Given the description of an element on the screen output the (x, y) to click on. 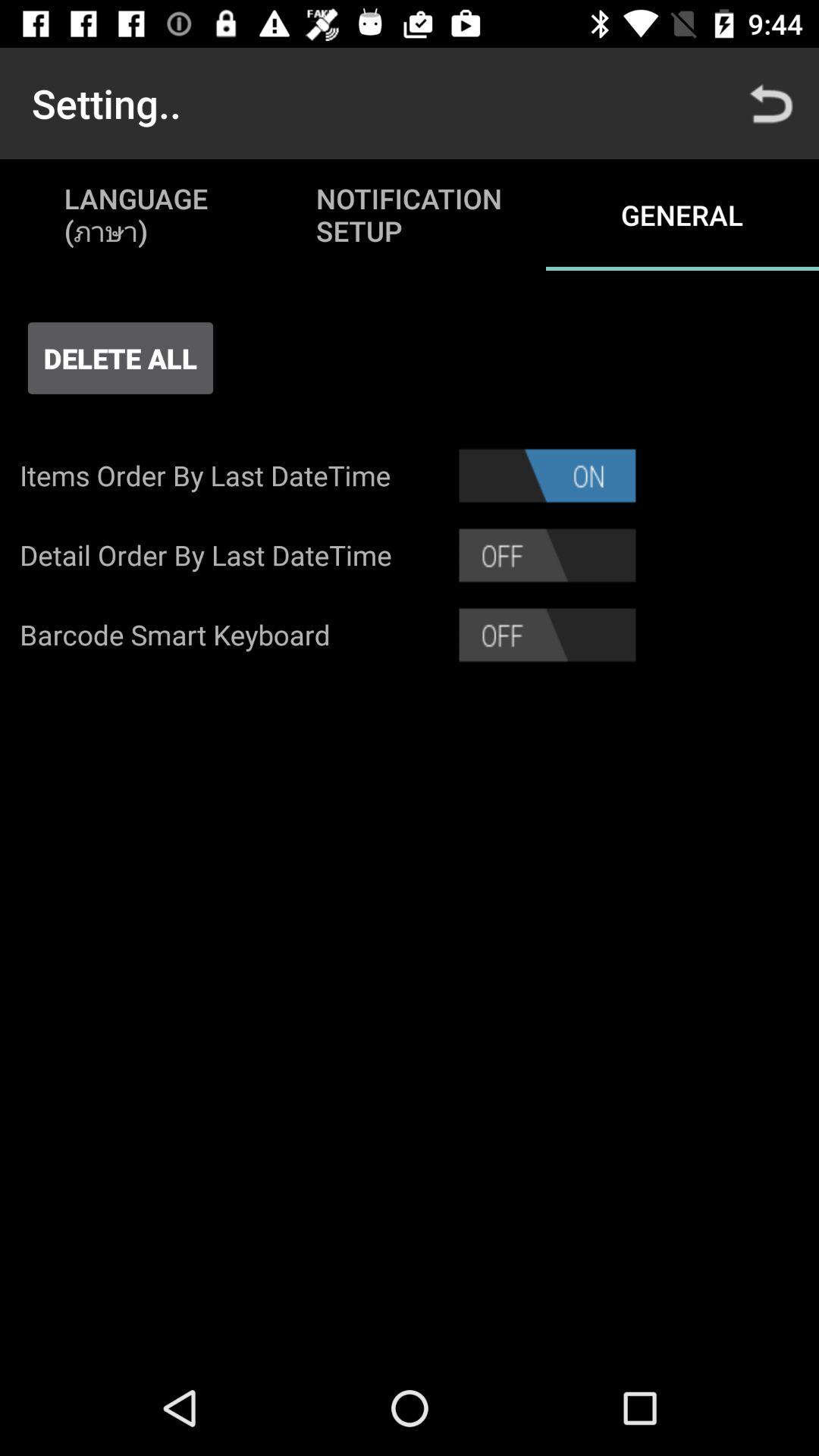
slide (547, 634)
